Given the description of an element on the screen output the (x, y) to click on. 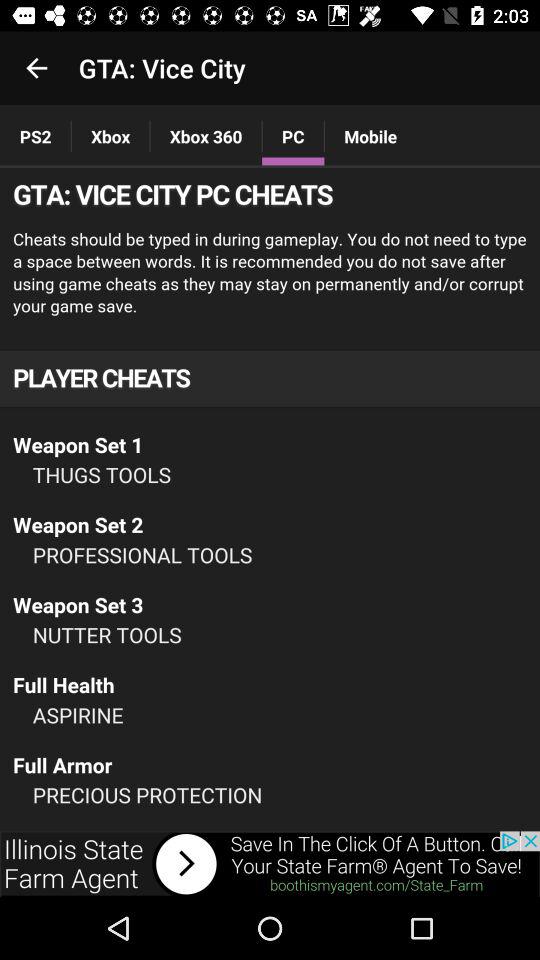
advertisement area (270, 864)
